Given the description of an element on the screen output the (x, y) to click on. 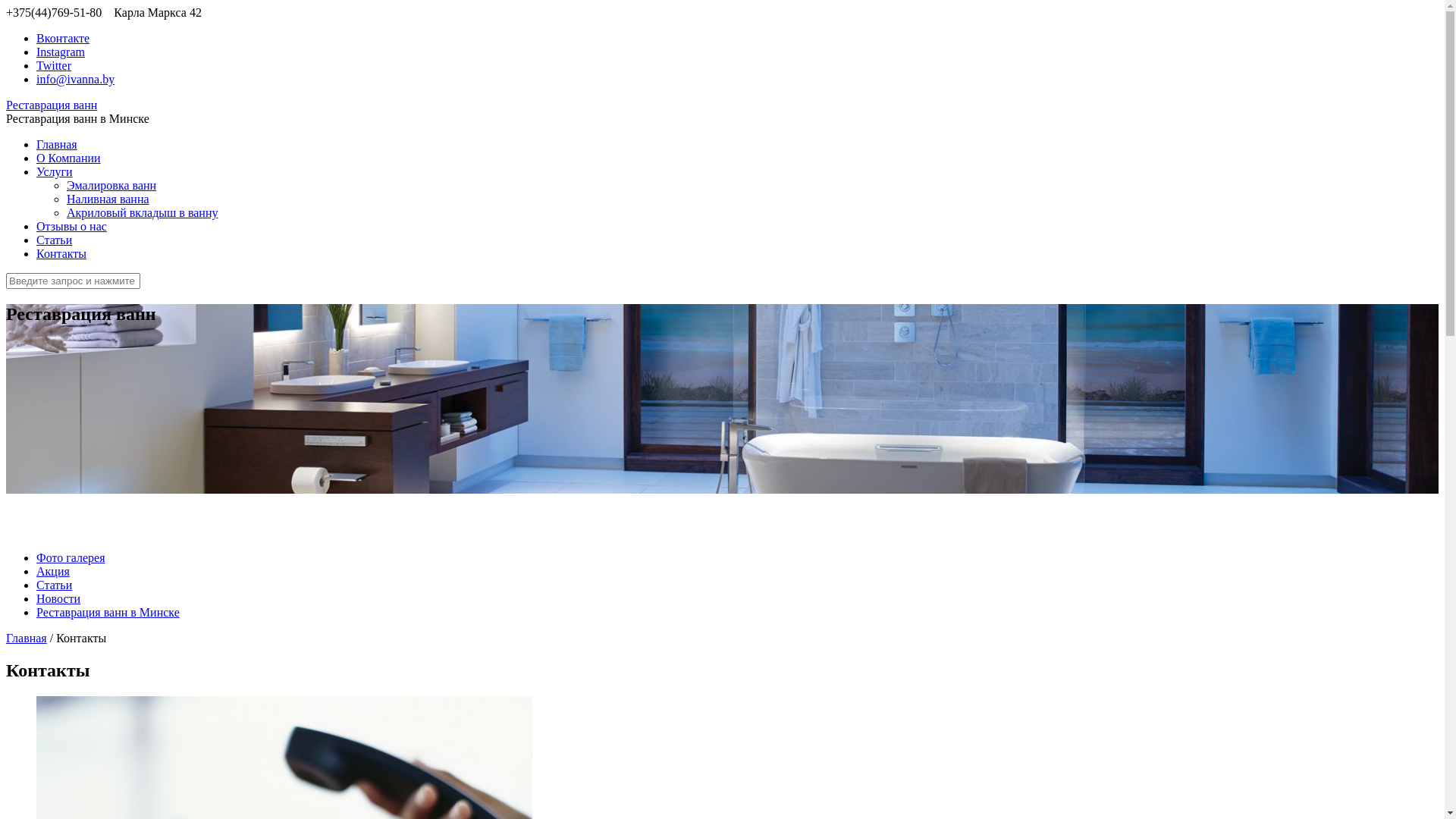
Twitter Element type: text (53, 65)
Instagram Element type: text (60, 51)
info@ivanna.by Element type: text (75, 78)
